Given the description of an element on the screen output the (x, y) to click on. 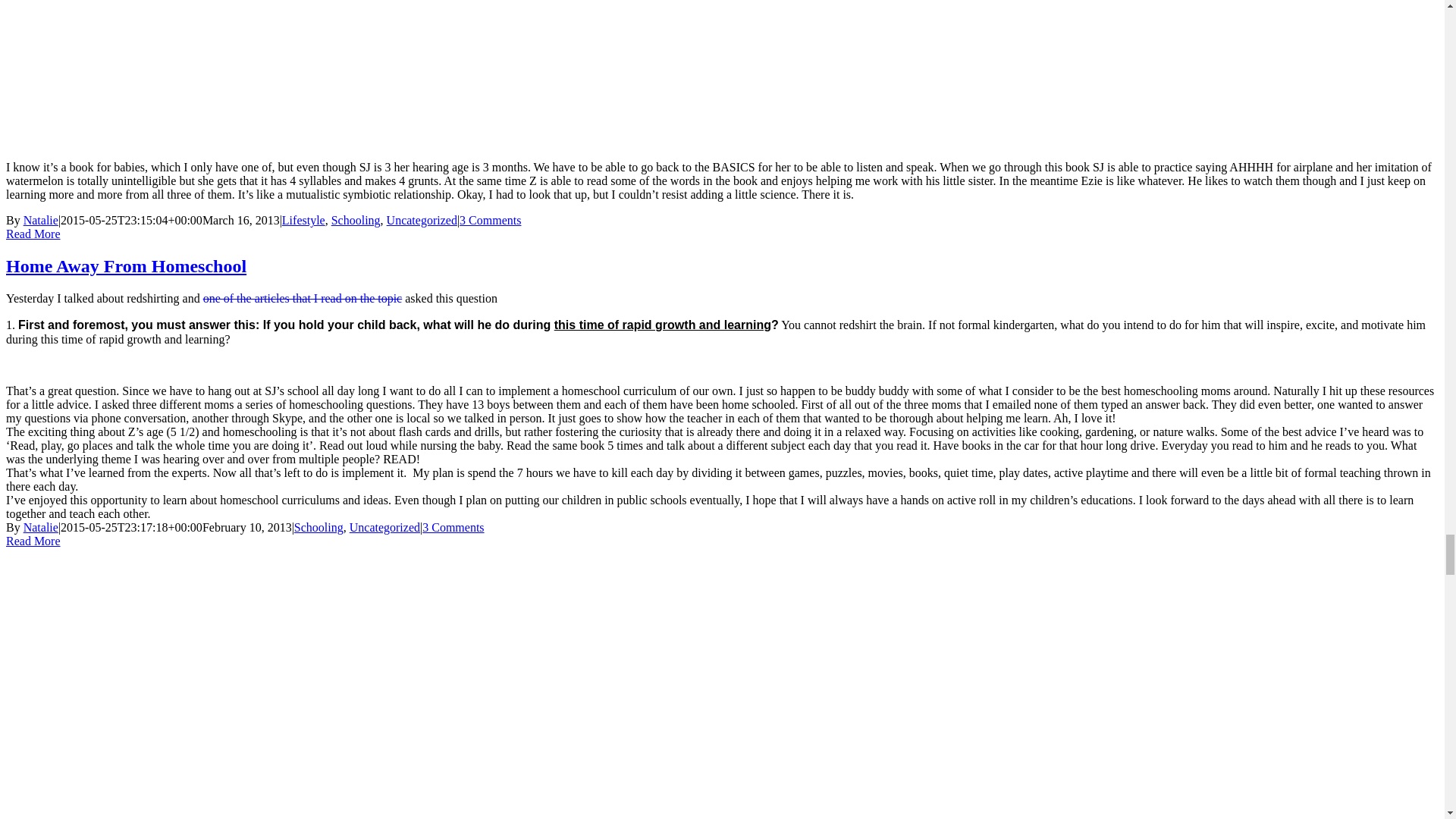
Posts by Natalie (40, 526)
Posts by Natalie (40, 219)
